Given the description of an element on the screen output the (x, y) to click on. 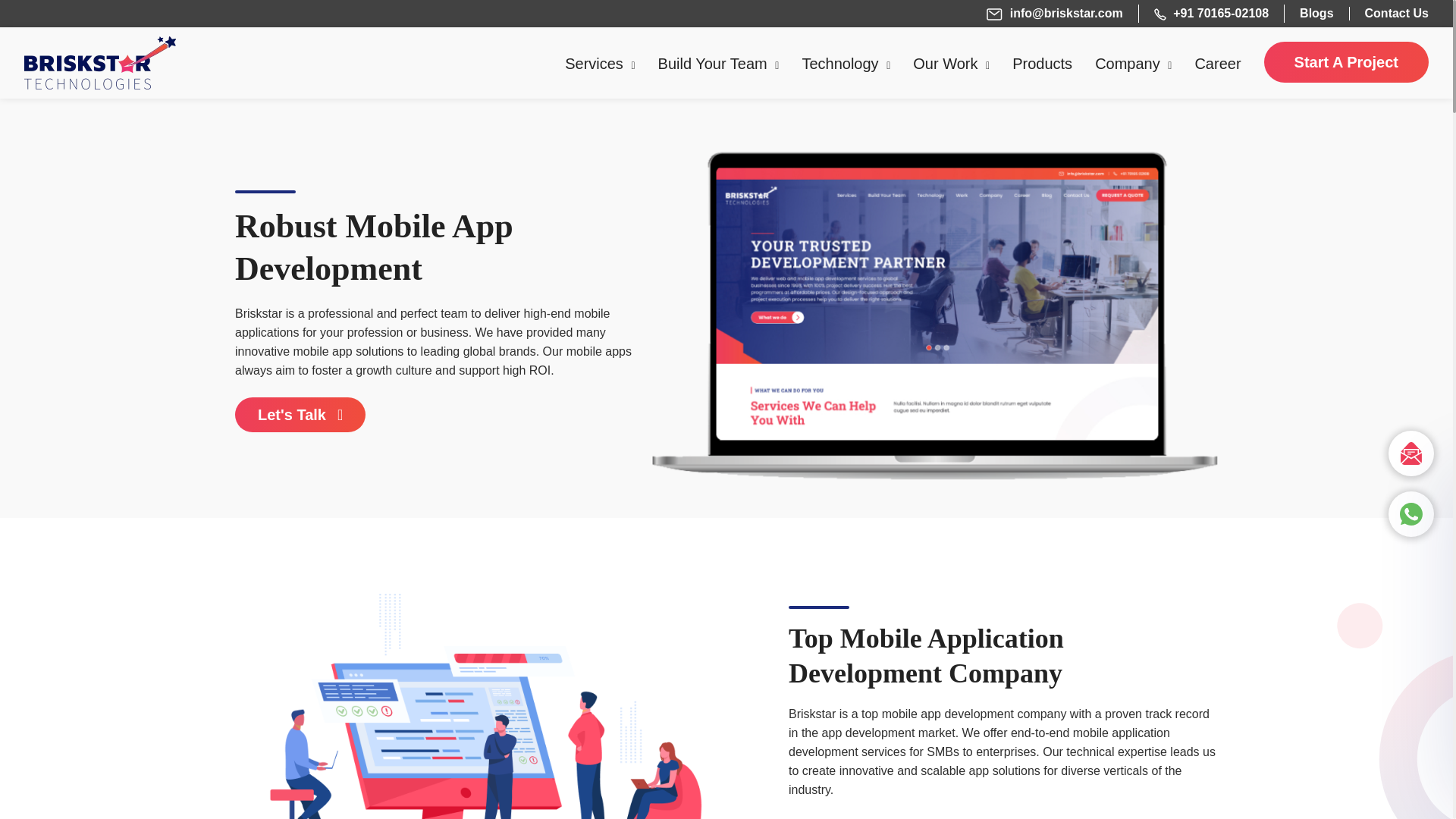
Contact Us (1396, 13)
Services (599, 64)
Blogs (1316, 13)
